Given the description of an element on the screen output the (x, y) to click on. 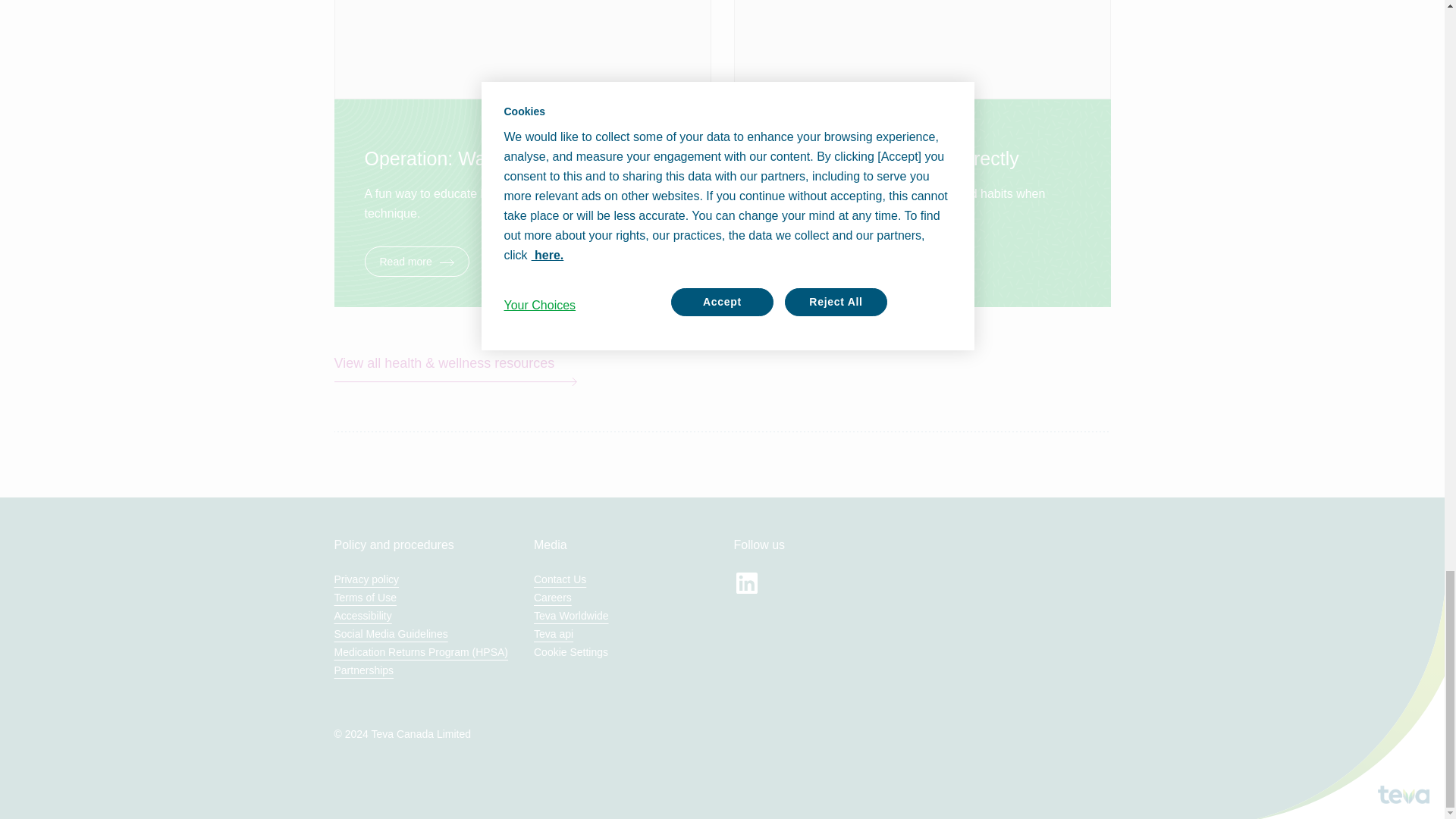
Read more about Taking your medicine correctly (922, 261)
Read more about Operation: WashUp (521, 261)
Follow us (746, 583)
